Given the description of an element on the screen output the (x, y) to click on. 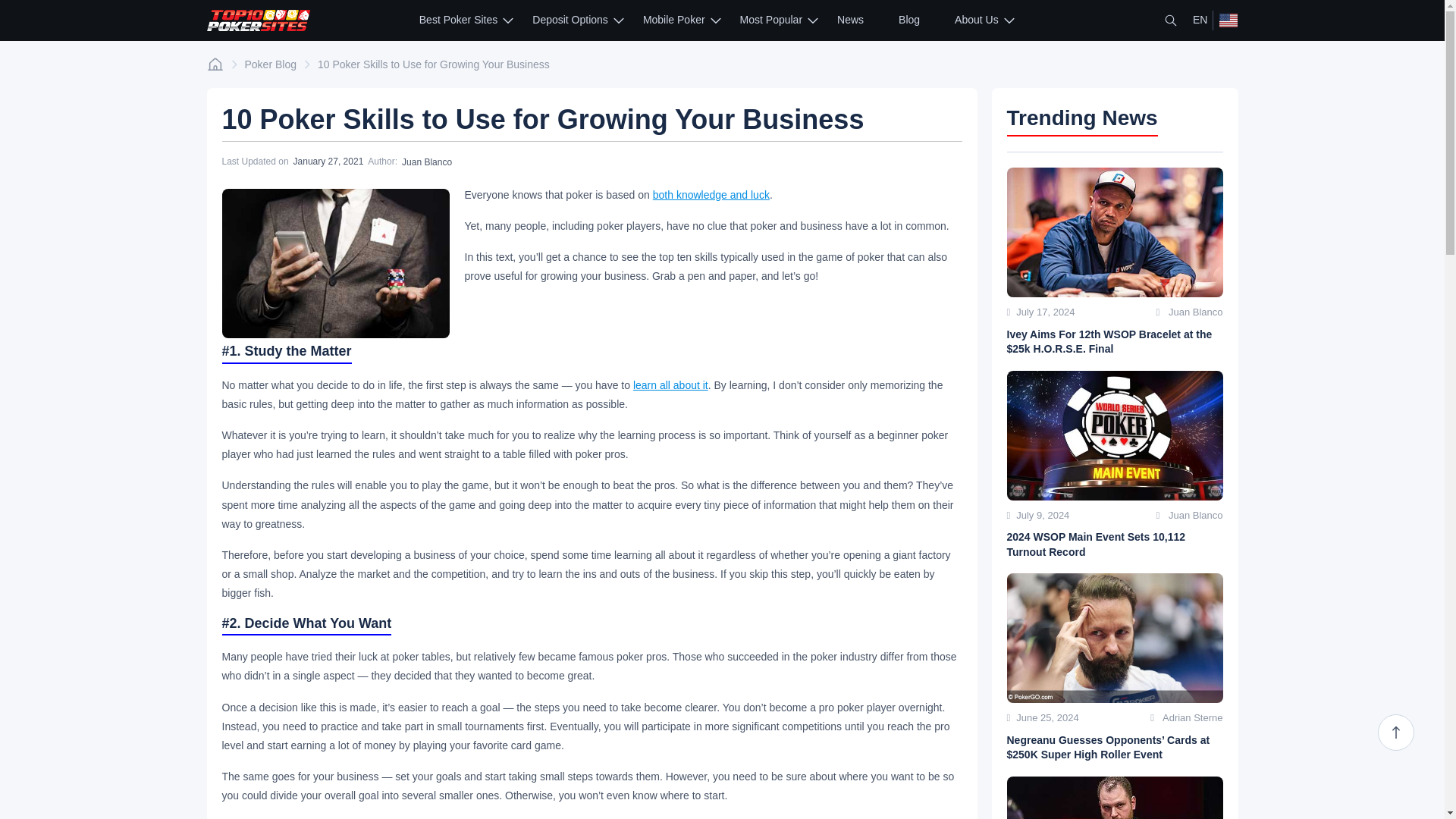
Best Poker Sites (458, 19)
10 Poker Skills to Use for Growing Your Business (334, 263)
Most Popular (770, 19)
Home (214, 64)
View all posts in Poker Blog (269, 64)
Deposit Options (570, 19)
Mobile Poker (673, 19)
